Given the description of an element on the screen output the (x, y) to click on. 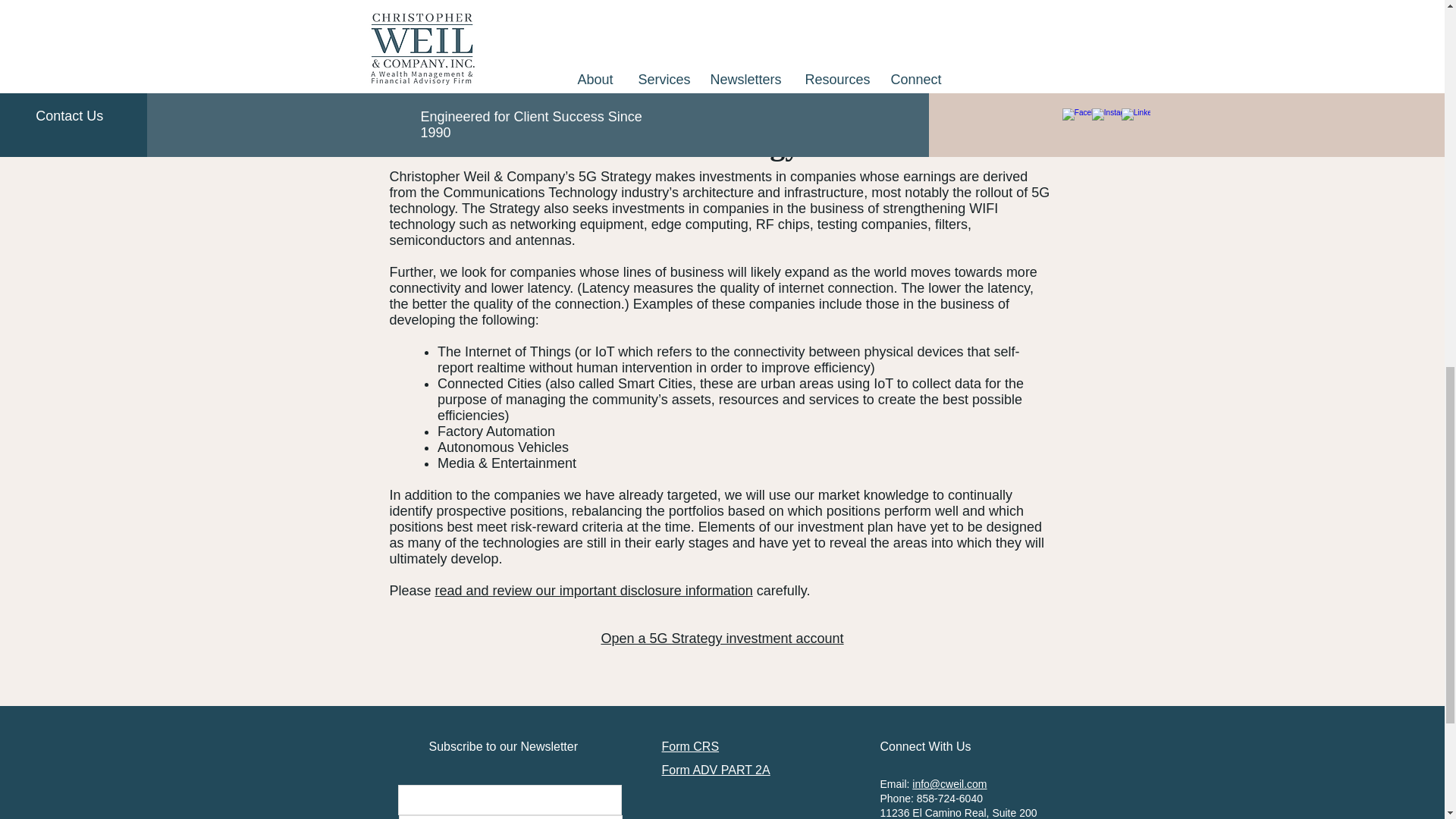
Form ADV PART 2A (715, 769)
Open a 5G Strategy investment account (721, 638)
read and review our important disclosure information (593, 590)
Form CRS (690, 746)
